Given the description of an element on the screen output the (x, y) to click on. 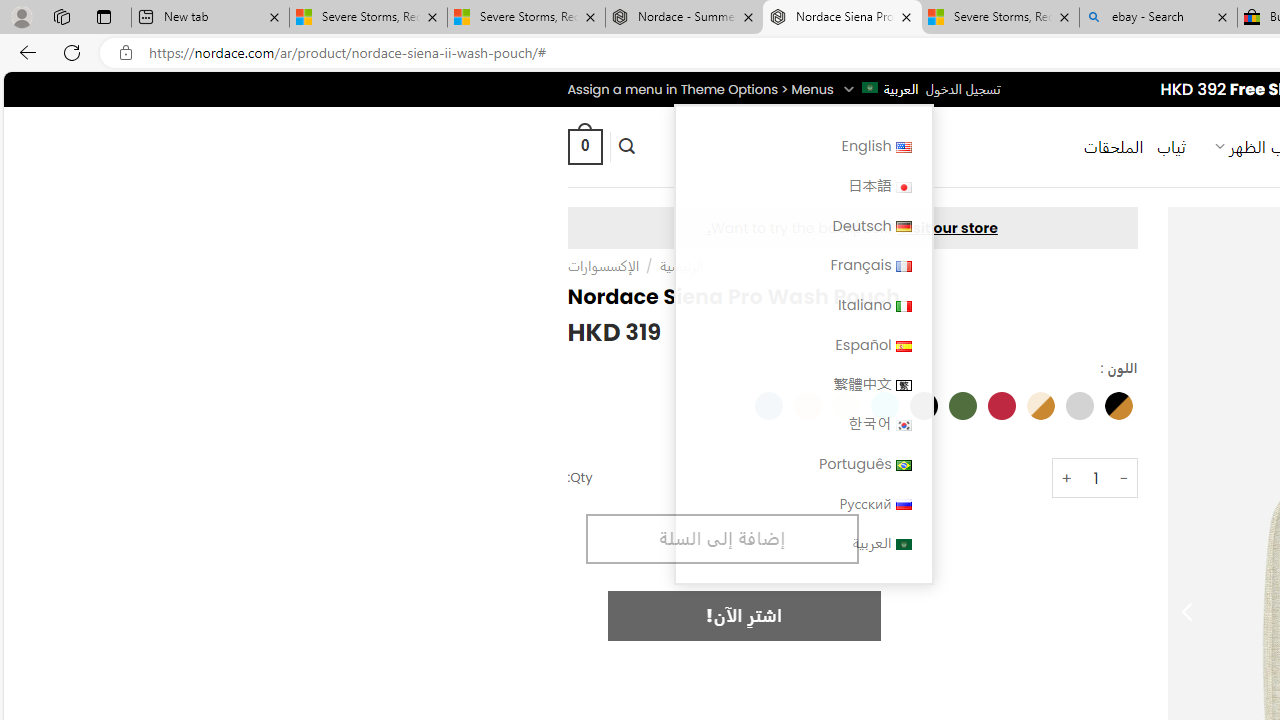
Close tab (1222, 16)
Italiano Italiano (802, 303)
New tab (210, 17)
ebay - Search (1158, 17)
Nordace - Summer Adventures 2024 (683, 17)
Nordace Siena Pro Wash Pouch (842, 17)
Deutsch Deutsch (802, 225)
